Given the description of an element on the screen output the (x, y) to click on. 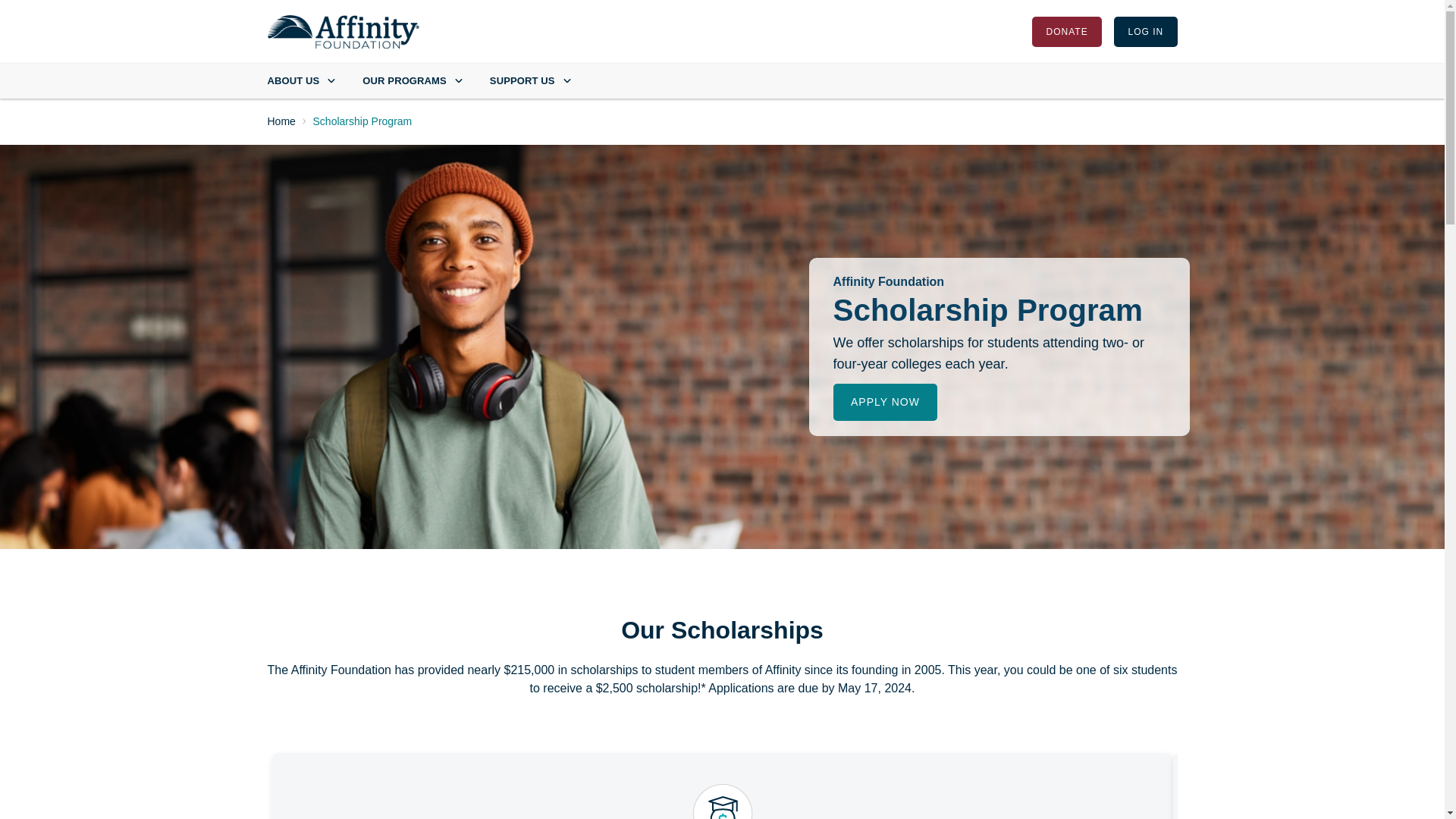
APPLY NOW (884, 402)
Home (342, 31)
DONATE (1067, 31)
Home (280, 121)
LOG IN (1145, 31)
